Given the description of an element on the screen output the (x, y) to click on. 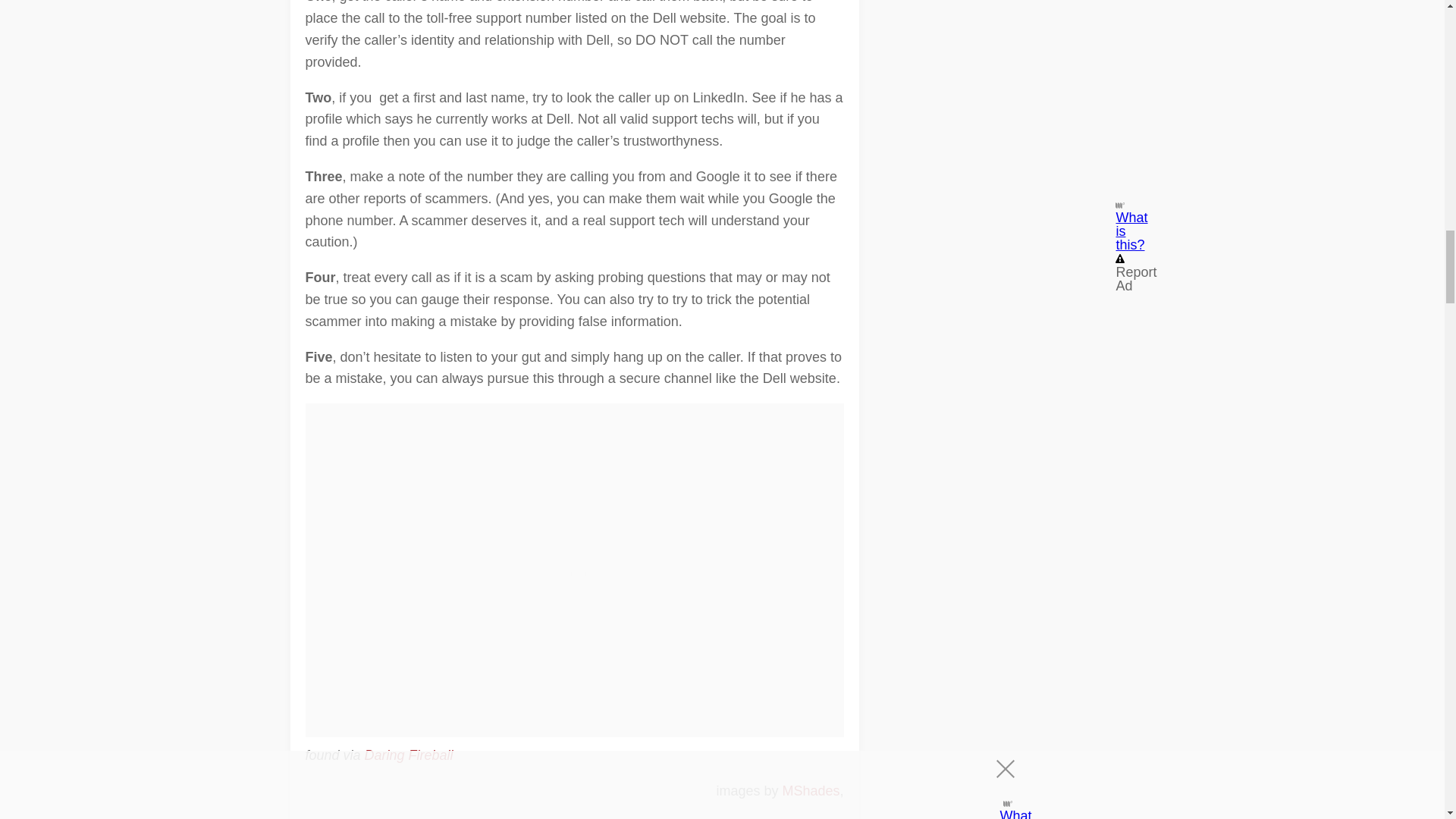
Daring Fireball (408, 754)
MShades (810, 790)
